Given the description of an element on the screen output the (x, y) to click on. 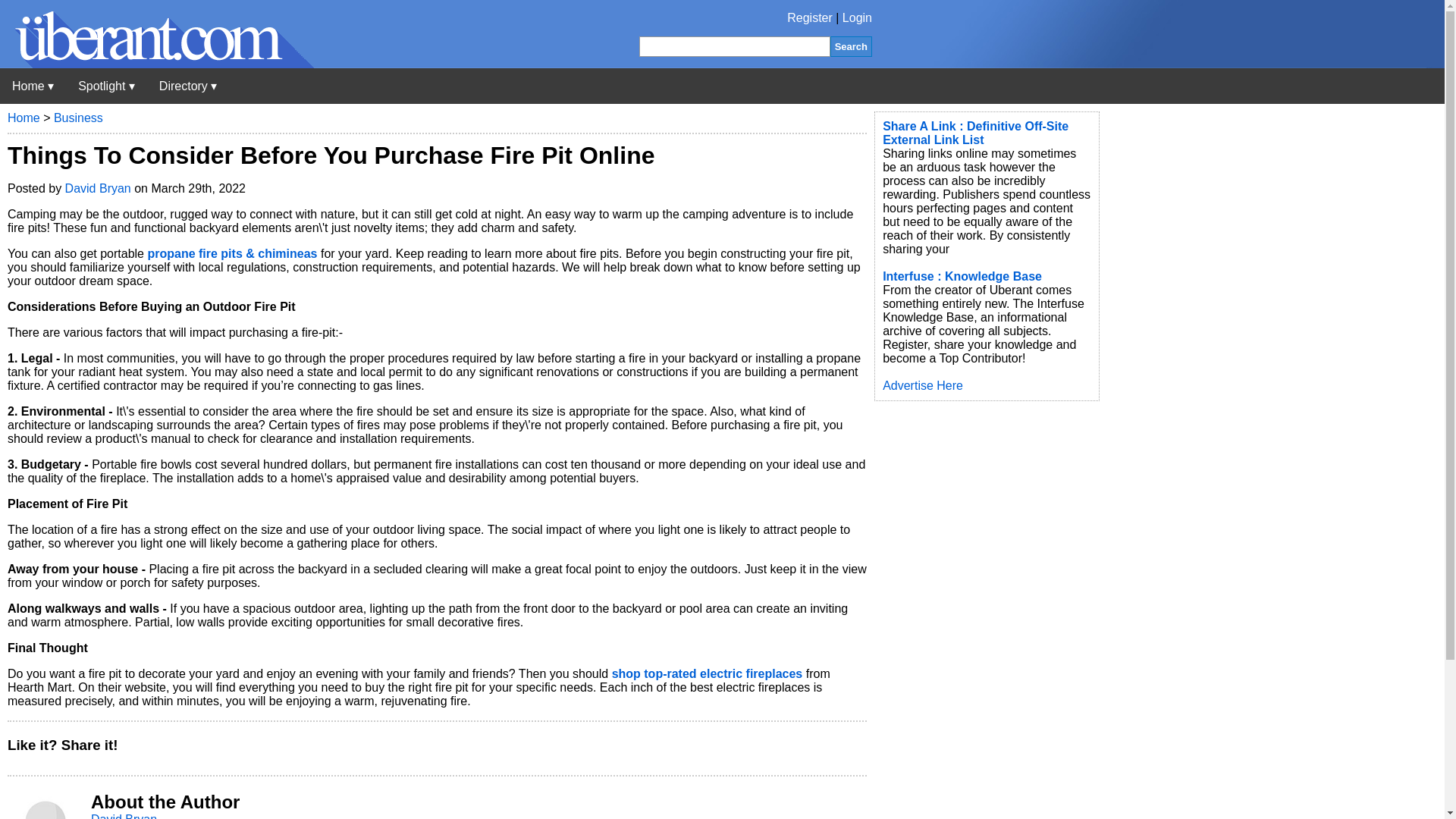
Uberant (157, 63)
Register (809, 17)
Search (850, 46)
Search (850, 46)
Login (857, 17)
Uberant (32, 85)
